Given the description of an element on the screen output the (x, y) to click on. 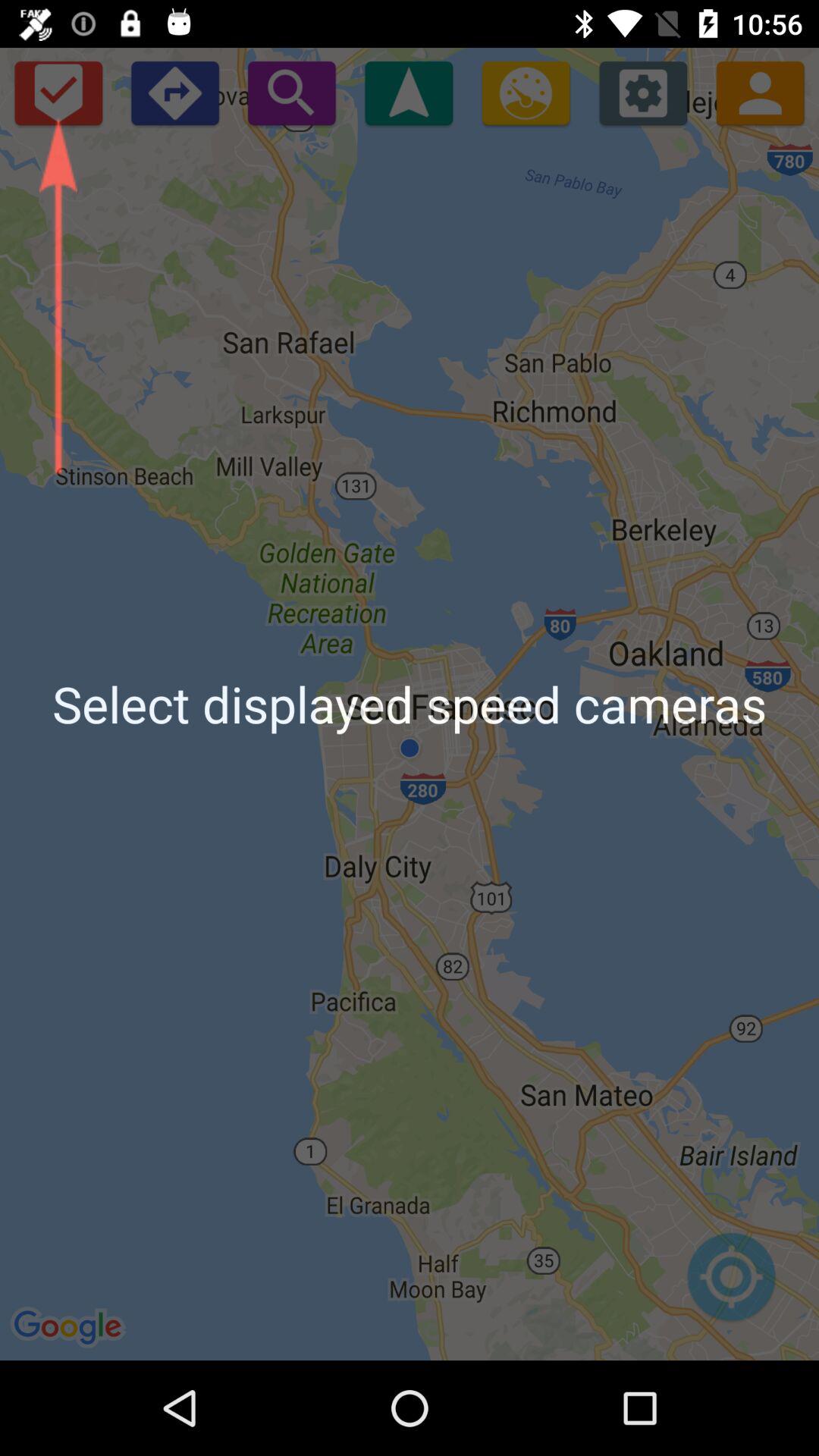
select displayed speed cameras (58, 92)
